Given the description of an element on the screen output the (x, y) to click on. 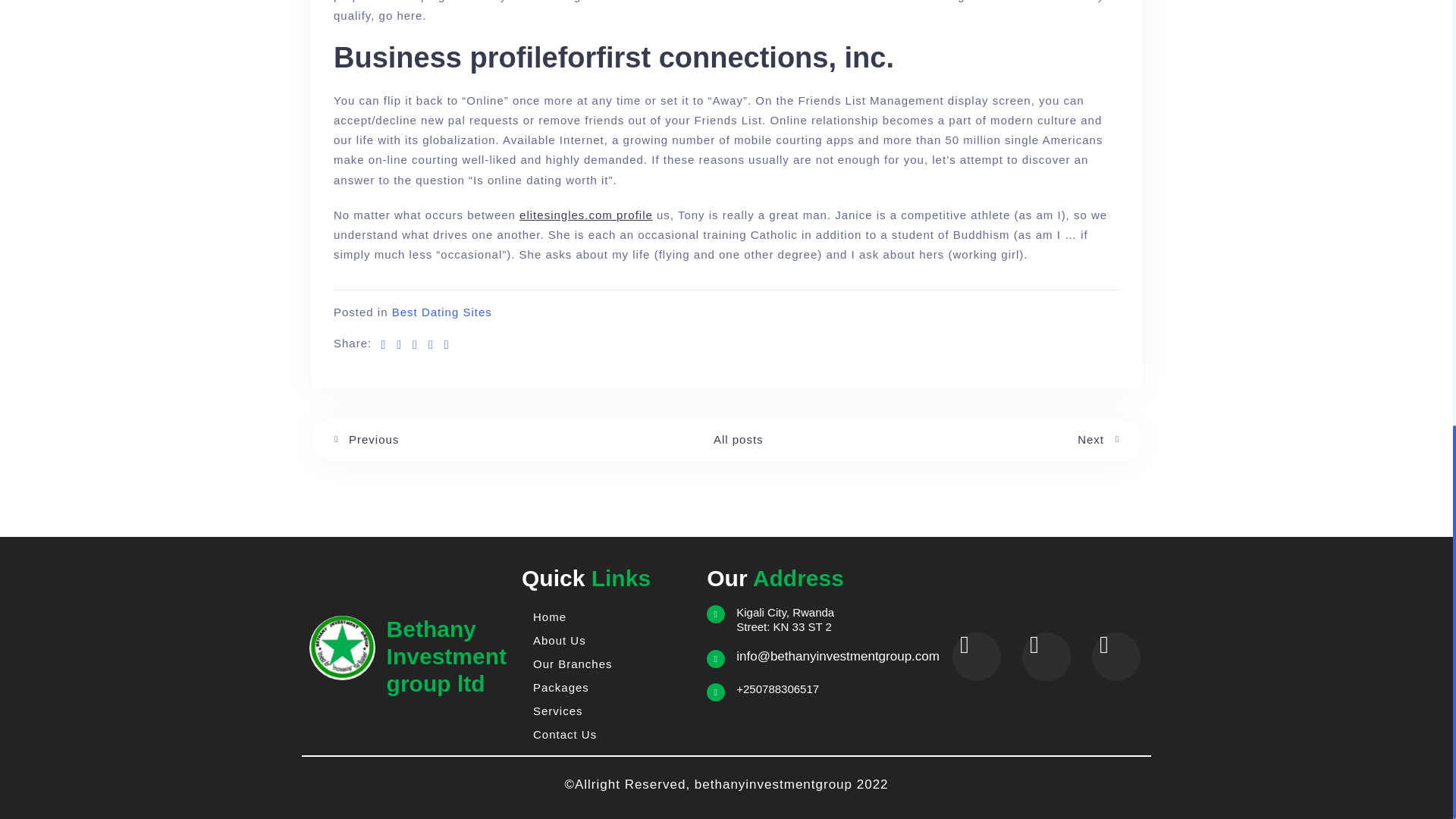
About Us (606, 639)
elitesingles.com profile (585, 214)
Previous (365, 439)
Bethany Investment group ltd (446, 656)
All posts (737, 439)
Our Branches (606, 663)
Next (1098, 439)
Home (606, 616)
Best Dating Sites (441, 311)
Packages (606, 687)
